Given the description of an element on the screen output the (x, y) to click on. 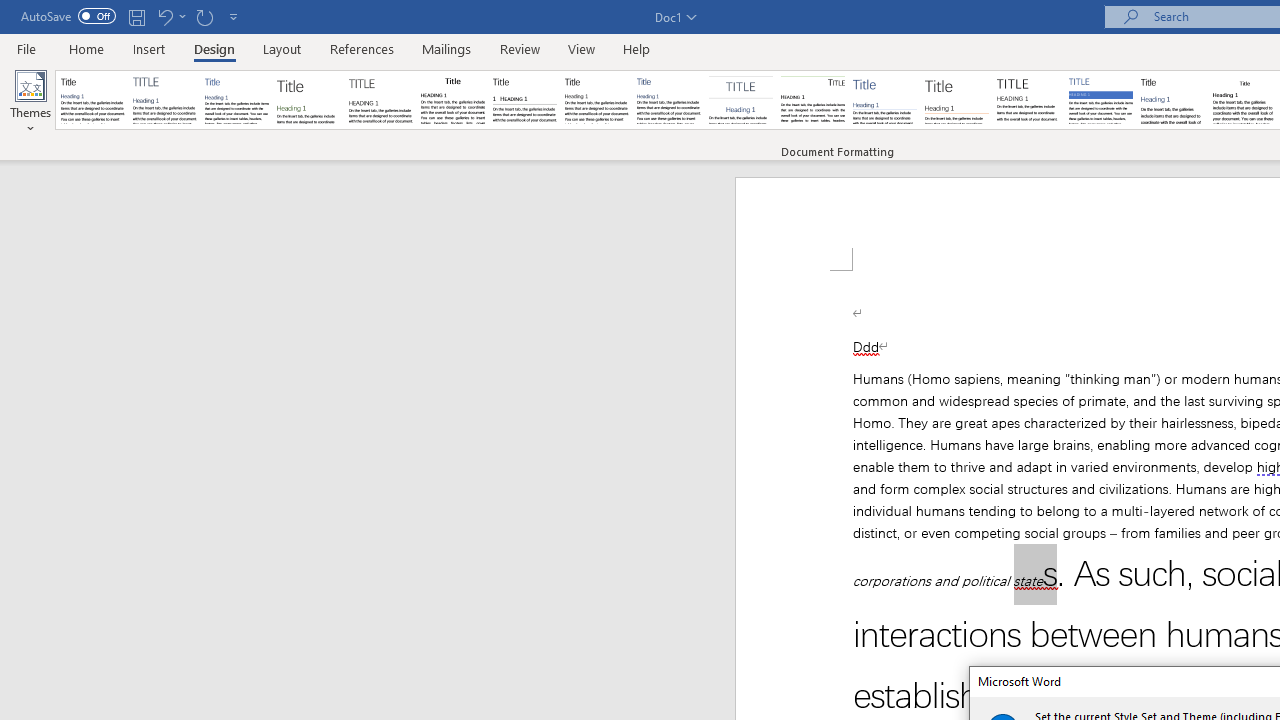
Basic (Simple) (236, 100)
Casual (669, 100)
Document (93, 100)
Basic (Elegant) (164, 100)
Themes (30, 102)
Basic (Stylish) (308, 100)
